Given the description of an element on the screen output the (x, y) to click on. 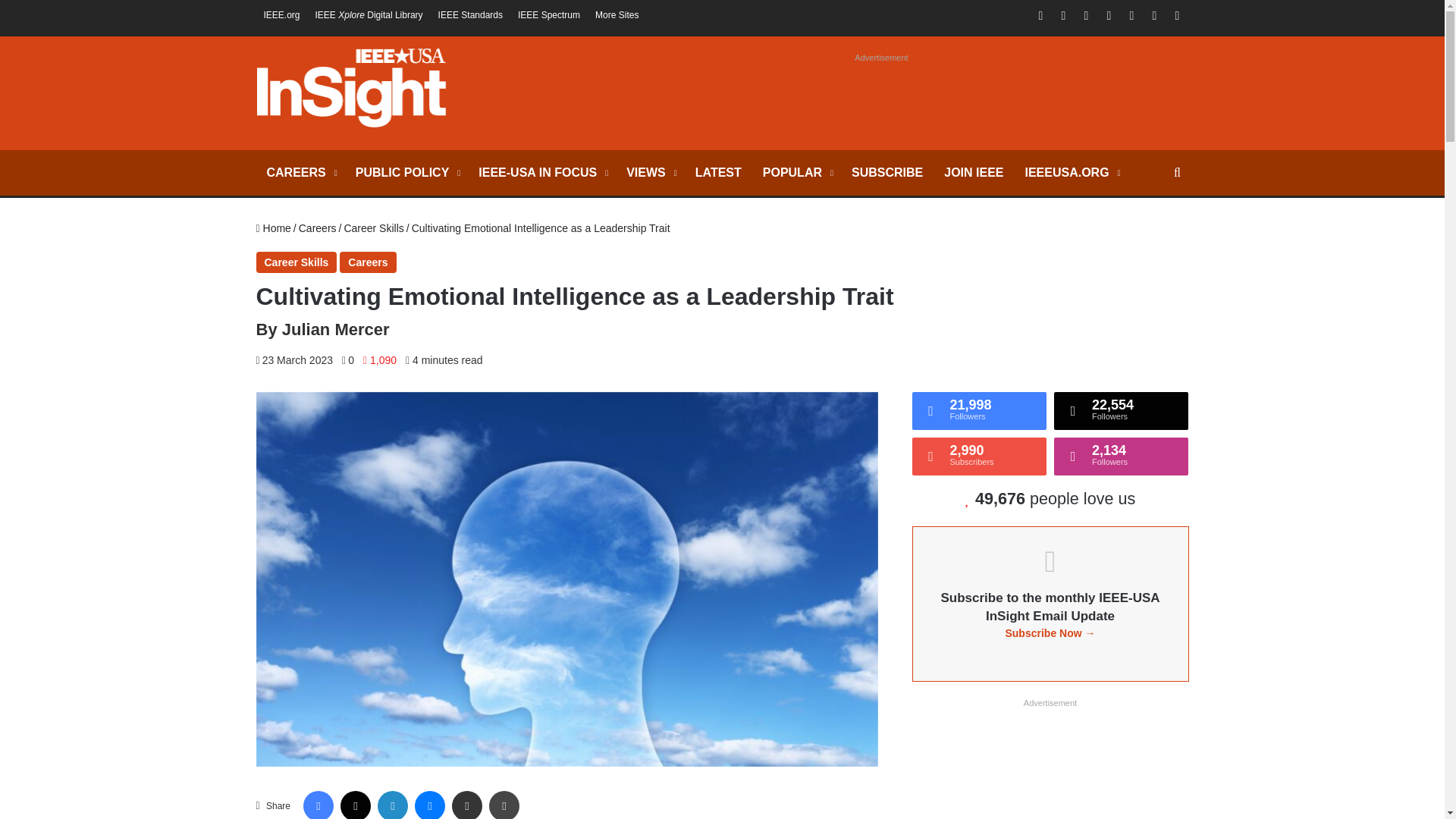
LinkedIn (1086, 14)
Facebook (317, 805)
VIEWS (649, 172)
RSS (1177, 14)
CAREERS (300, 172)
Print (504, 805)
LinkedIn (392, 805)
X (1063, 14)
More Sites (617, 14)
IEEE-USA InSight Logo (351, 87)
